Given the description of an element on the screen output the (x, y) to click on. 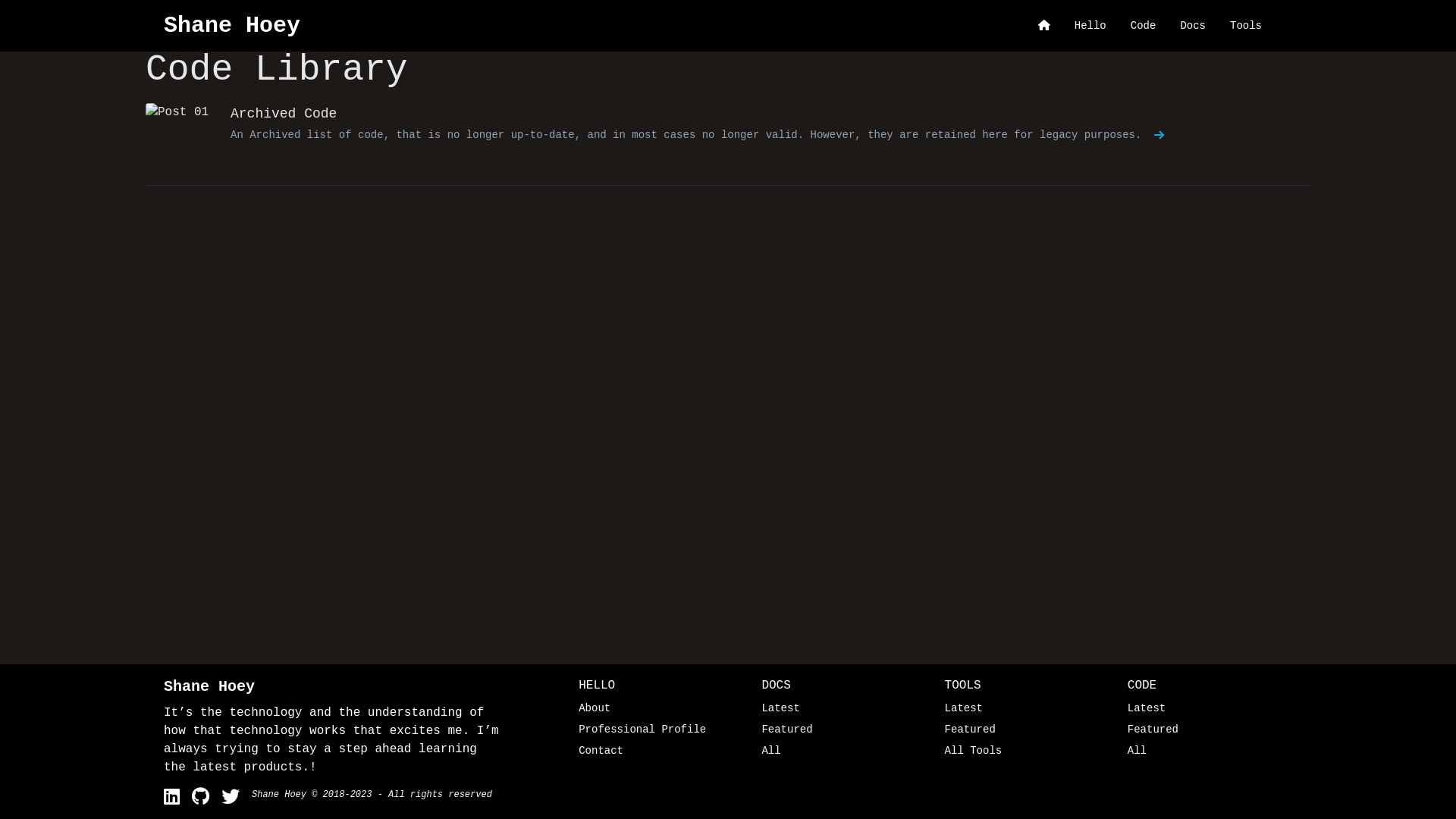
Hello Element type: text (1090, 25)
Latest Element type: text (843, 707)
Featured Element type: text (1209, 729)
Code Element type: text (1143, 25)
Shane Hoey Element type: text (231, 25)
All Element type: text (1209, 750)
Docs Element type: text (1192, 25)
Tools Element type: text (1245, 25)
Featured Element type: text (1026, 729)
All Tools Element type: text (1026, 750)
Contact Element type: text (660, 750)
Professional Profile Element type: text (660, 729)
Latest Element type: text (1209, 707)
Featured Element type: text (843, 729)
Archived Code Element type: text (283, 113)
About Element type: text (660, 707)
All Element type: text (843, 750)
Shane Hoey Element type: text (278, 794)
Latest Element type: text (1026, 707)
Shane Hoey Element type: text (208, 686)
